Given the description of an element on the screen output the (x, y) to click on. 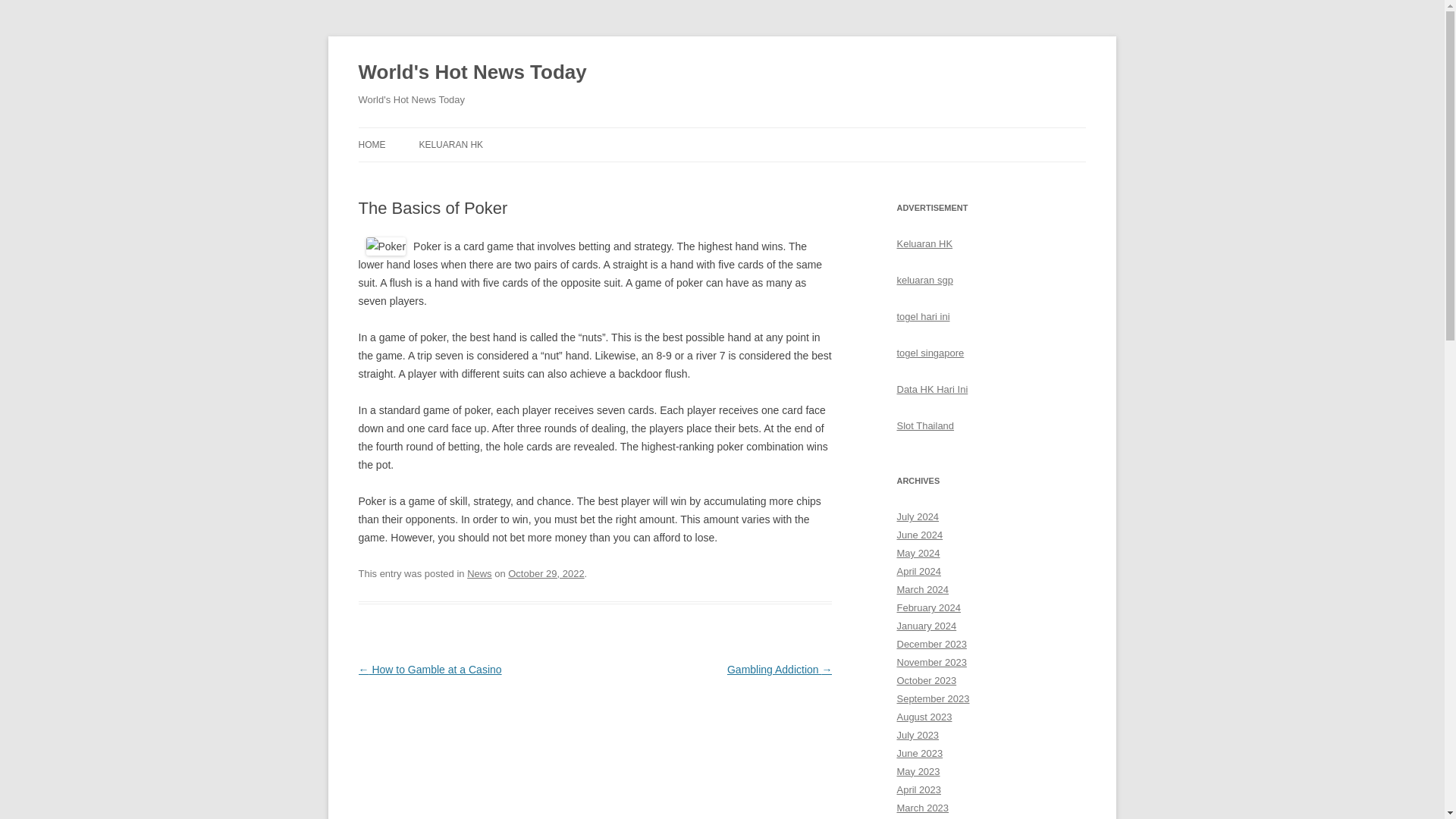
April 2023 (918, 789)
August 2023 (924, 716)
July 2024 (917, 516)
June 2023 (919, 753)
Data HK Hari Ini (932, 389)
KELUARAN HK (451, 144)
January 2024 (926, 625)
May 2023 (917, 771)
June 2024 (919, 534)
Keluaran HK (924, 243)
World's Hot News Today (472, 72)
News (479, 573)
togel singapore (929, 352)
keluaran sgp (924, 279)
